Given the description of an element on the screen output the (x, y) to click on. 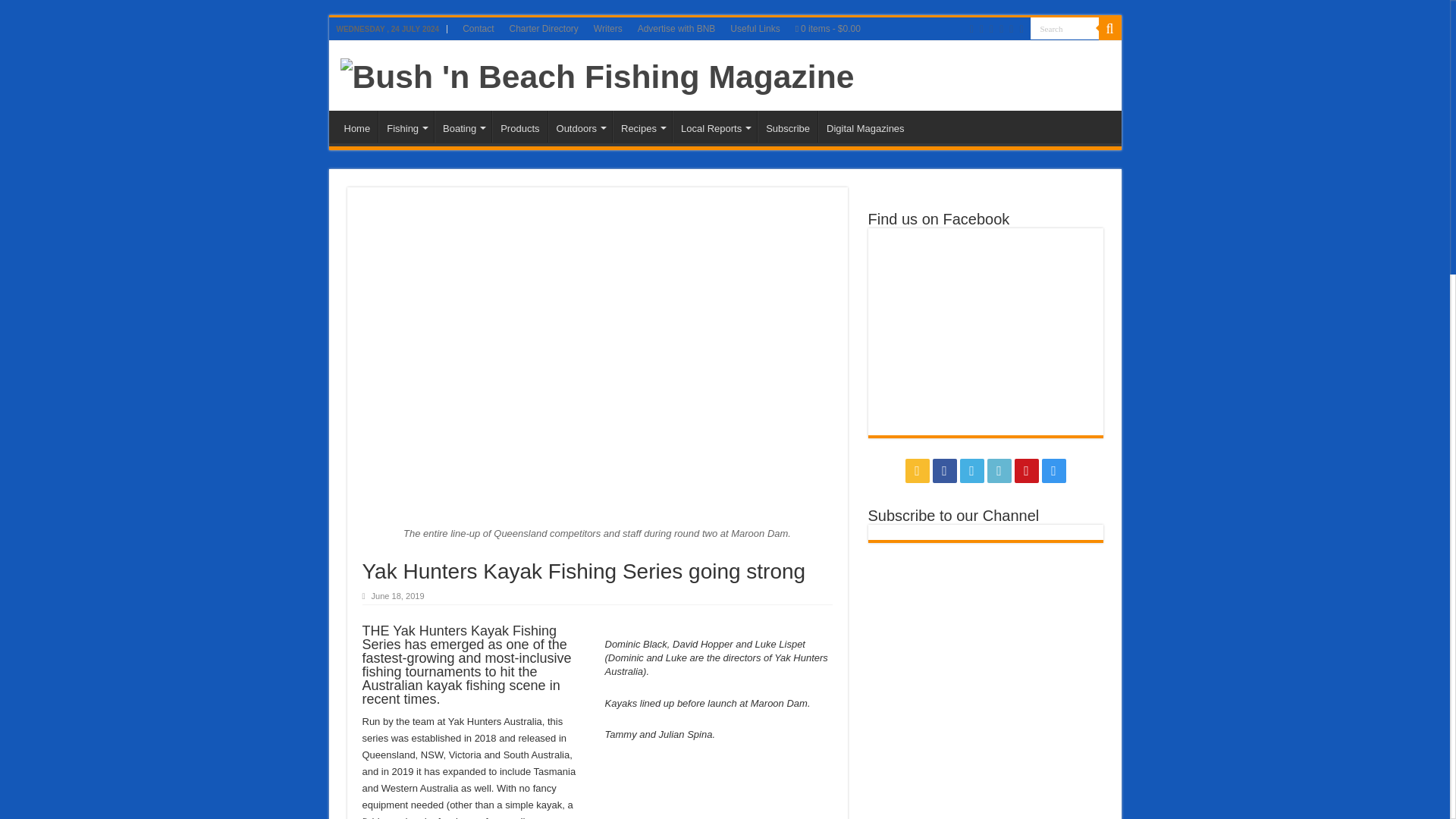
Contact (477, 28)
Search (1063, 28)
Search (1109, 28)
Charter Directory (544, 28)
Writers (608, 28)
Start shopping (827, 28)
Advertise with BNB (676, 28)
Search (1063, 28)
Useful Links (754, 28)
Fishing (405, 126)
Home (357, 126)
Search (1063, 28)
